Given the description of an element on the screen output the (x, y) to click on. 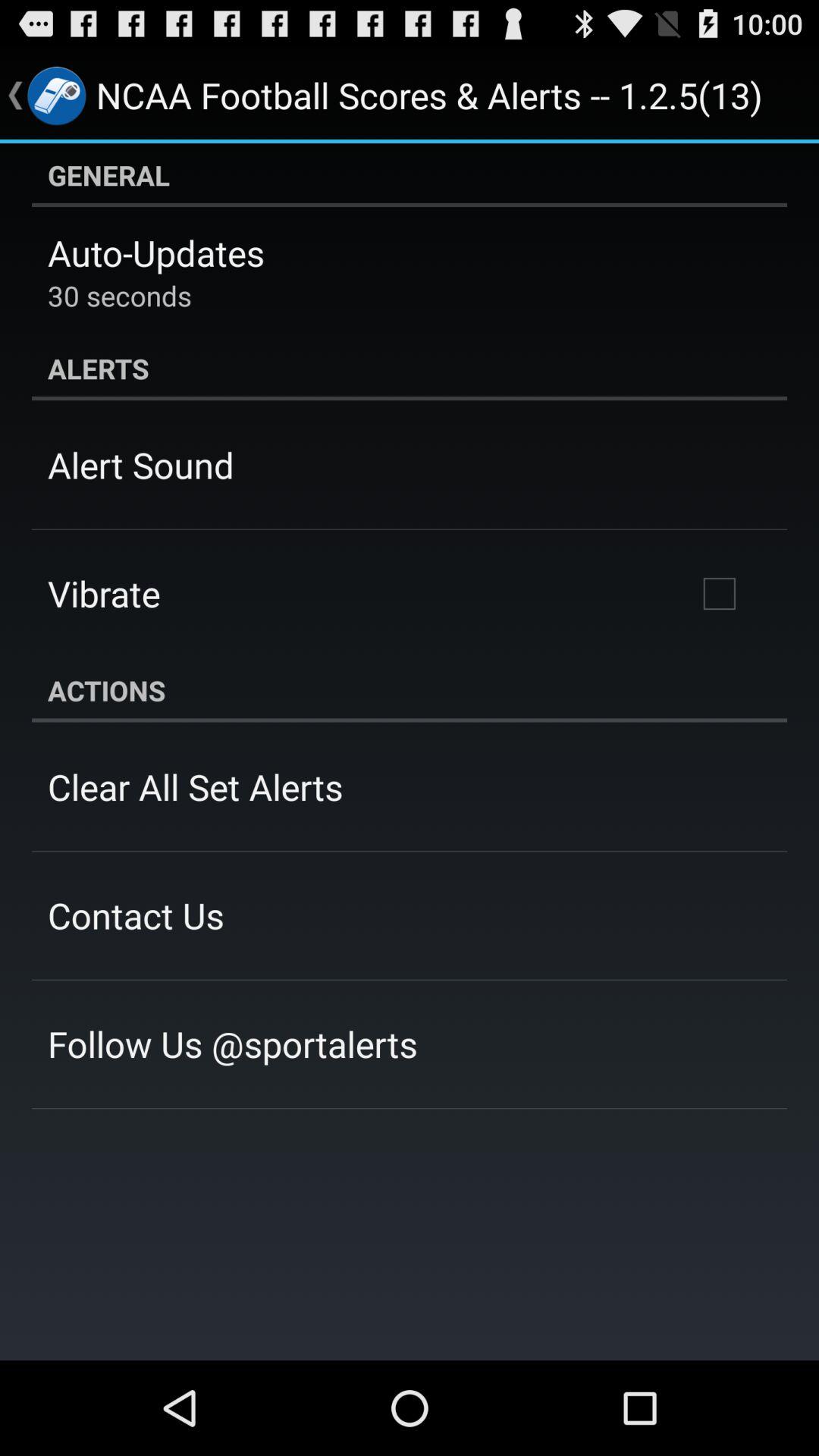
open the actions item (409, 690)
